Given the description of an element on the screen output the (x, y) to click on. 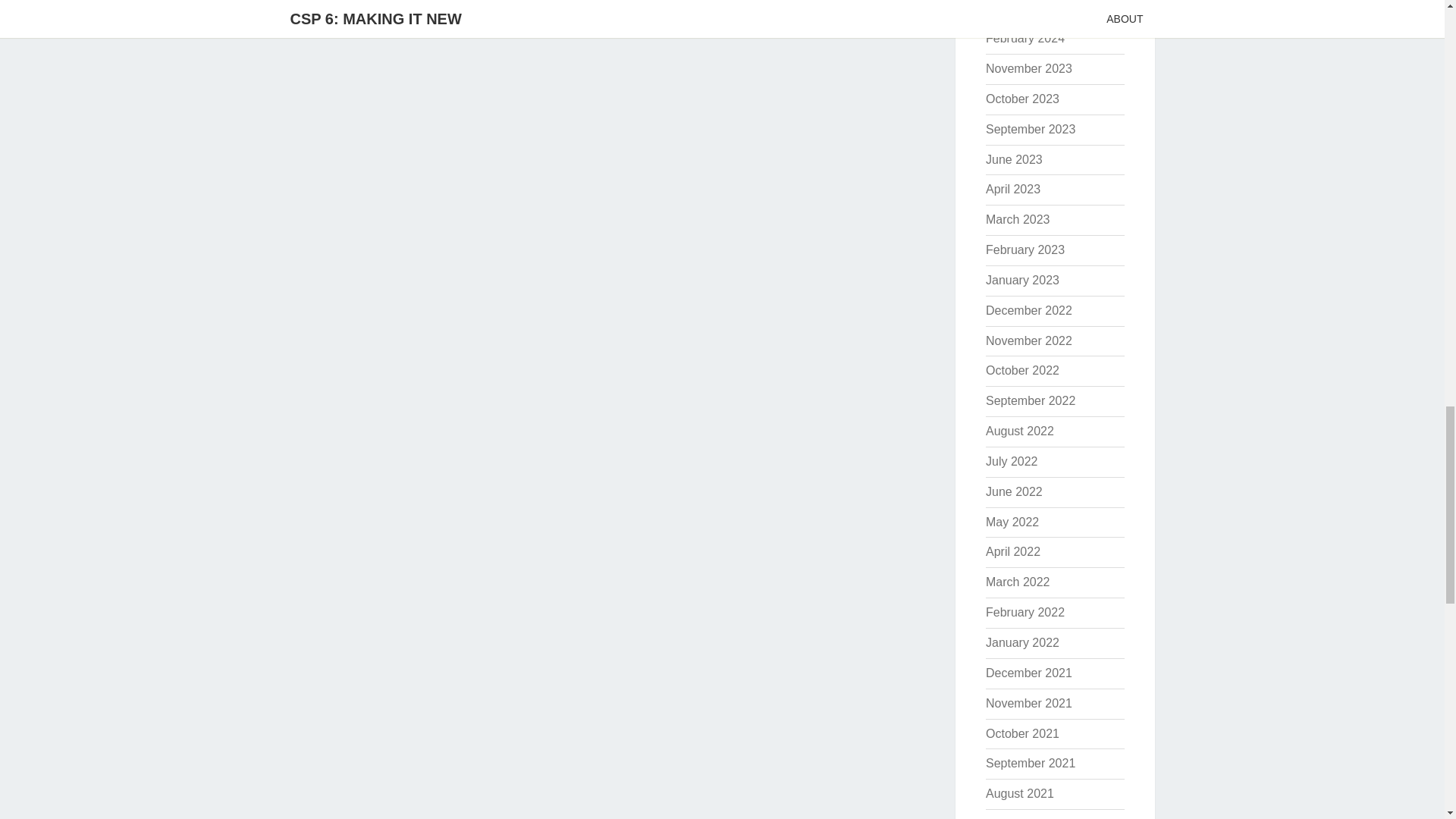
April 2023 (1013, 188)
October 2022 (1022, 369)
March 2023 (1017, 219)
September 2023 (1030, 128)
October 2023 (1022, 98)
February 2024 (1024, 38)
November 2022 (1028, 340)
December 2022 (1028, 309)
April 2024 (1013, 7)
February 2023 (1024, 249)
January 2023 (1022, 279)
November 2023 (1028, 68)
June 2023 (1013, 159)
